Given the description of an element on the screen output the (x, y) to click on. 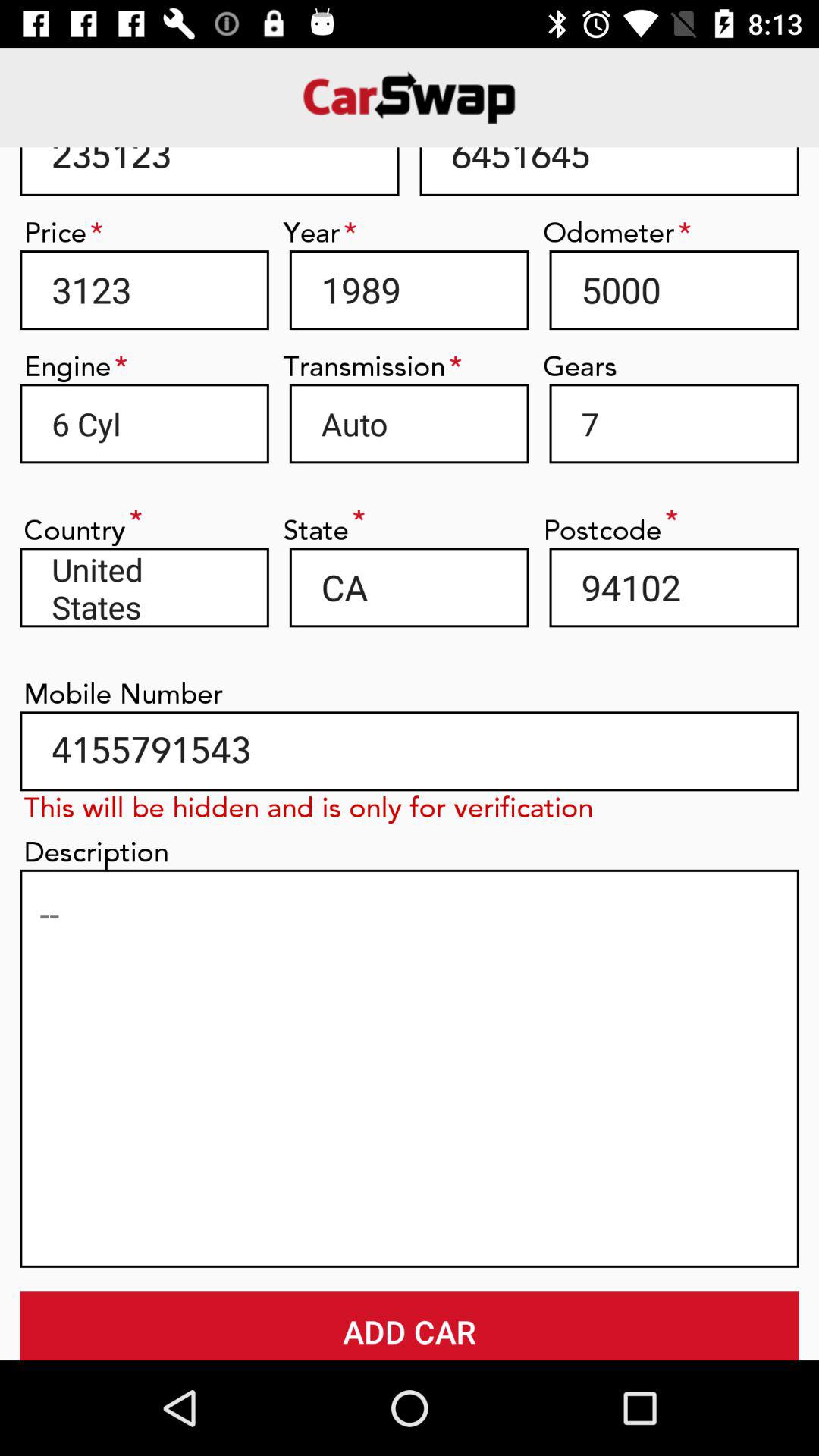
click item below year (408, 289)
